Given the description of an element on the screen output the (x, y) to click on. 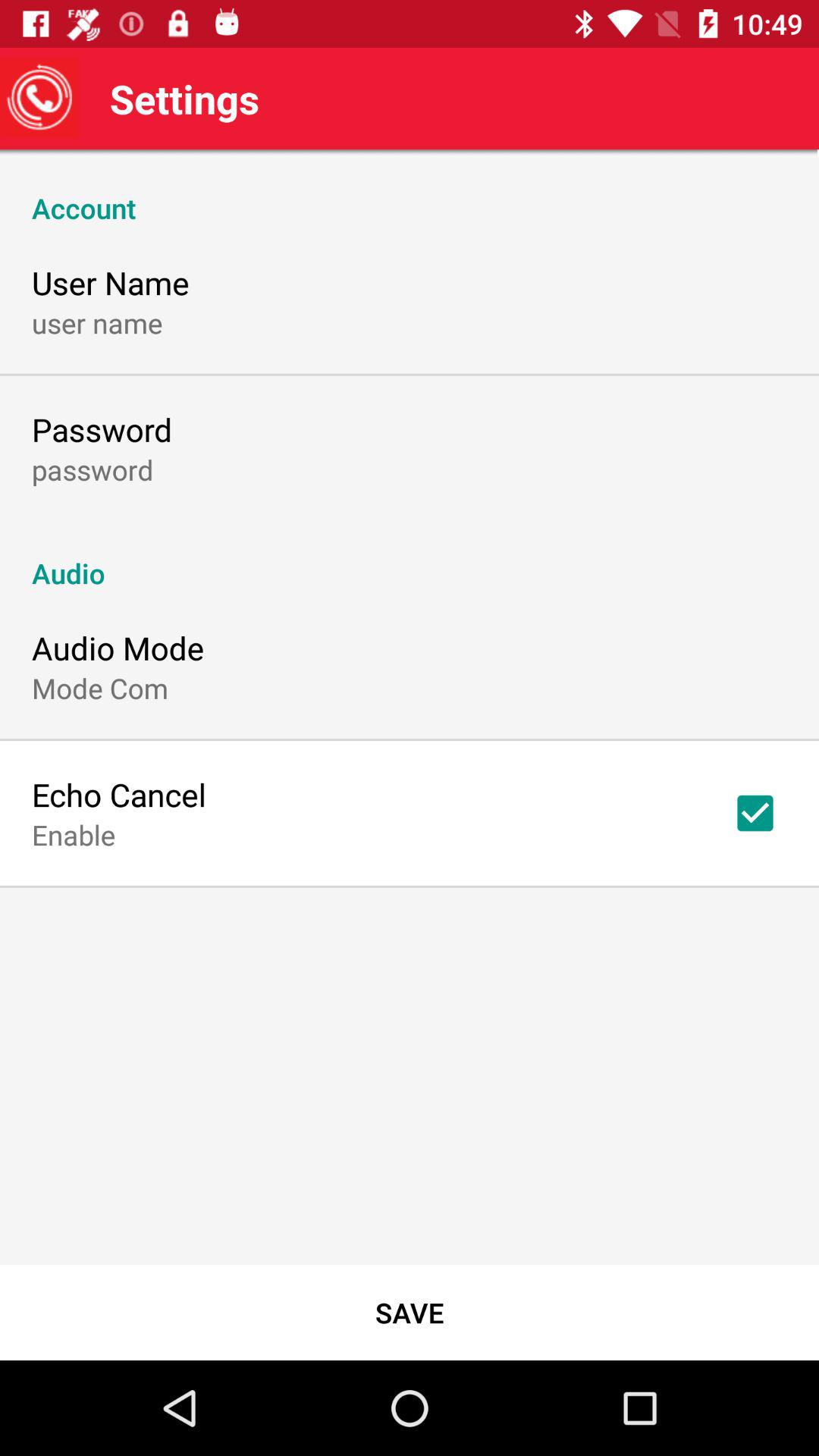
turn off the icon on the right (755, 813)
